Given the description of an element on the screen output the (x, y) to click on. 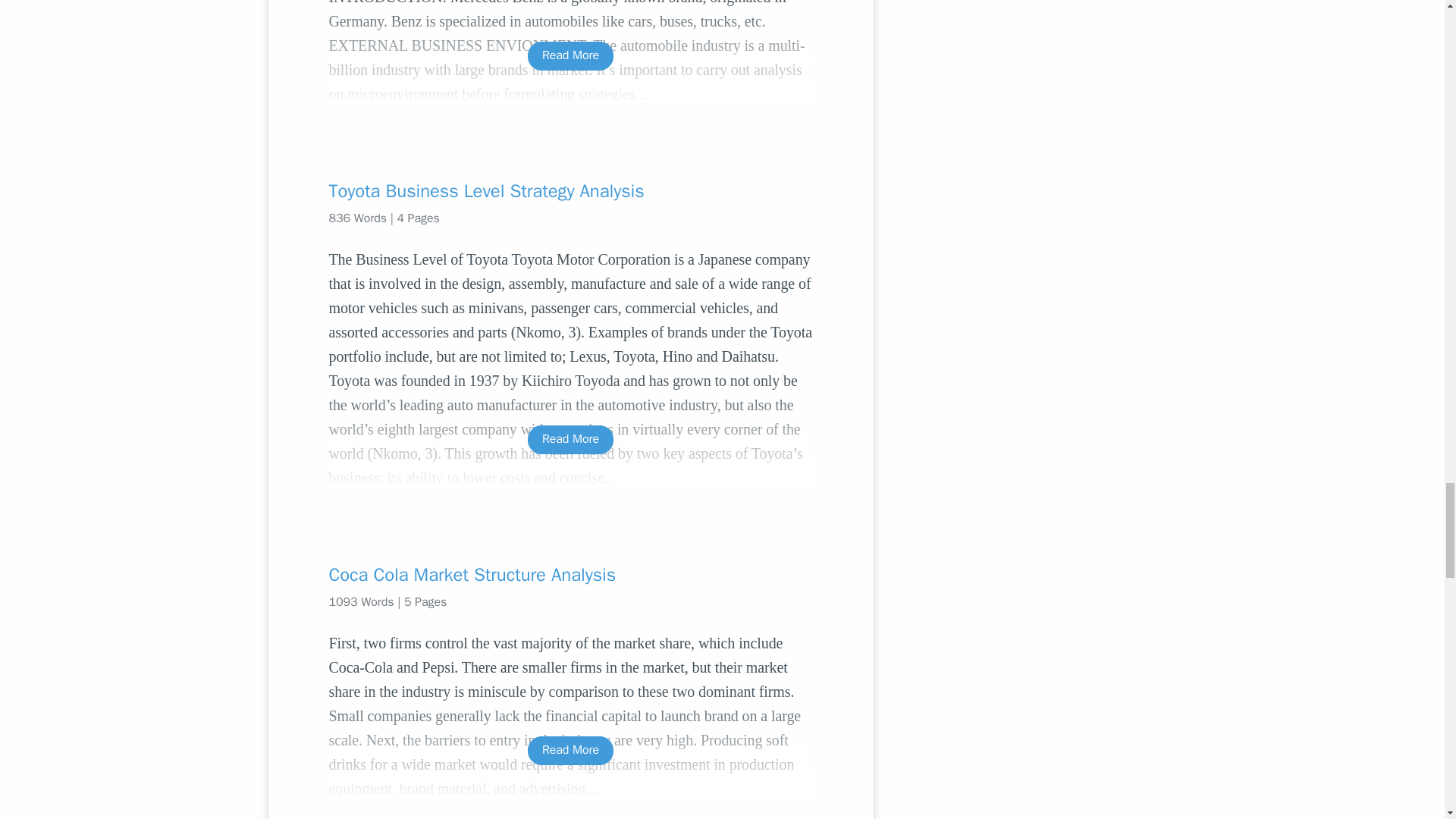
Toyota Business Level Strategy Analysis (570, 191)
Read More (569, 439)
Coca Cola Market Structure Analysis (570, 574)
Read More (569, 55)
